Given the description of an element on the screen output the (x, y) to click on. 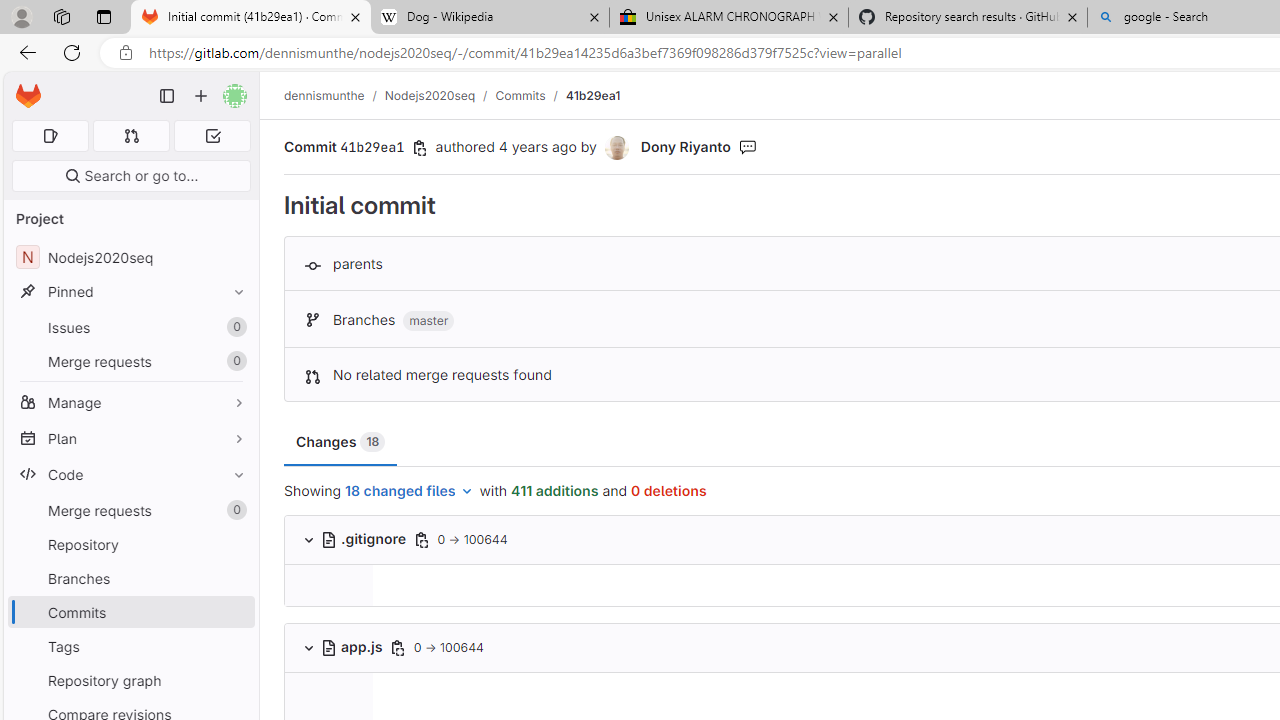
Tags (130, 646)
Plan (130, 438)
Class: old_line diff-line-num empty-cell (328, 701)
Primary navigation sidebar (167, 96)
Branches (130, 578)
master (428, 321)
Class: s16 (328, 647)
Pinned (130, 291)
41b29ea1 (592, 95)
N Nodejs2020seq (130, 257)
Commits/ (530, 95)
Merge requests 0 (130, 510)
Unpin Merge requests (234, 510)
Repository graph (130, 679)
Repository graph (130, 679)
